Given the description of an element on the screen output the (x, y) to click on. 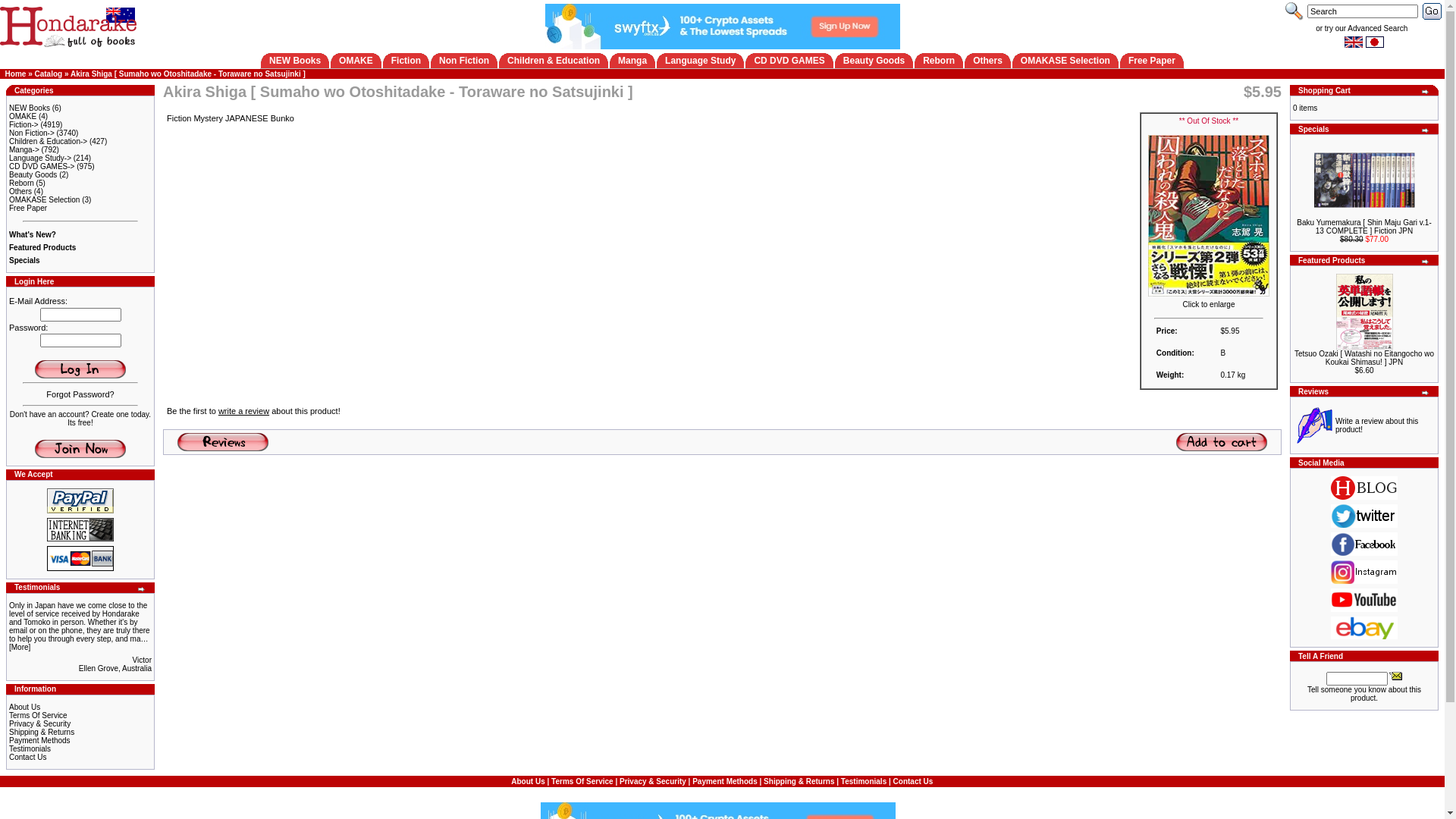
Free Paper Element type: text (1151, 60)
 FULL OF BOOKS Online  Element type: hover (68, 26)
CD DVD GAMES Element type: text (788, 60)
Click to enlarge Element type: text (1208, 300)
Others Element type: text (987, 60)
 more  Element type: hover (1425, 91)
NEW Books Element type: text (29, 107)
Shipping & Returns Element type: text (41, 732)
Payment Methods Element type: text (39, 739)
 more  Element type: hover (141, 589)
Write a review about this product! Element type: text (1376, 425)
 Reviews  Element type: hover (222, 441)
Others Element type: text (20, 191)
Fiction Element type: text (405, 60)
About Us Element type: text (527, 780)
Terms Of Service Element type: text (582, 780)
Privacy & Security Element type: text (652, 780)
Free Paper Element type: text (28, 207)
Non Fiction Element type: text (464, 60)
About Us Element type: text (24, 706)
Contact Us Element type: text (913, 780)
 Log in  Element type: hover (79, 368)
Testimonials Element type: text (29, 748)
Language Study-> Element type: text (40, 157)
What's New? Element type: text (32, 234)
Privacy & Security Element type: text (39, 722)
OMAKASE Selection Element type: text (1065, 60)
Contact Us Element type: text (27, 756)
OMAKE Element type: text (22, 116)
 more  Element type: hover (1425, 261)
Manga-> Element type: text (24, 149)
write a review Element type: text (243, 410)
Forgot Password? Element type: text (79, 393)
OMAKASE Selection Element type: text (44, 199)
 more  Element type: hover (1425, 392)
Beauty Goods Element type: text (873, 60)
 Japanese  Element type: hover (1374, 41)
Children & Education-> Element type: text (48, 141)
Testimonials Element type: text (863, 780)
[More] Element type: text (19, 647)
Payment Methods Element type: text (724, 780)
Specials Element type: text (24, 260)
 English  Element type: hover (1352, 41)
Reborn Element type: text (938, 60)
CD DVD GAMES-> Element type: text (41, 166)
OMAKE Element type: text (355, 60)
 Create Account  Element type: hover (79, 448)
Shipping & Returns Element type: text (798, 780)
Terms Of Service Element type: text (38, 715)
Home Element type: text (15, 73)
Catalog Element type: text (48, 73)
 Write Review  Element type: hover (1313, 425)
 Buy Now  Element type: hover (1221, 441)
Non Fiction-> Element type: text (31, 132)
 more  Element type: hover (1425, 130)
NEW Books Element type: text (294, 60)
Reborn Element type: text (21, 182)
Language Study Element type: text (700, 60)
Manga Element type: text (632, 60)
Featured Products Element type: text (42, 247)
 Search  Element type: hover (1431, 11)
Fiction-> Element type: text (23, 124)
Beauty Goods Element type: text (32, 174)
 Tell A Friend  Element type: hover (1395, 675)
or try our Advanced Search Element type: text (1361, 28)
Children & Education Element type: text (553, 60)
